Given the description of an element on the screen output the (x, y) to click on. 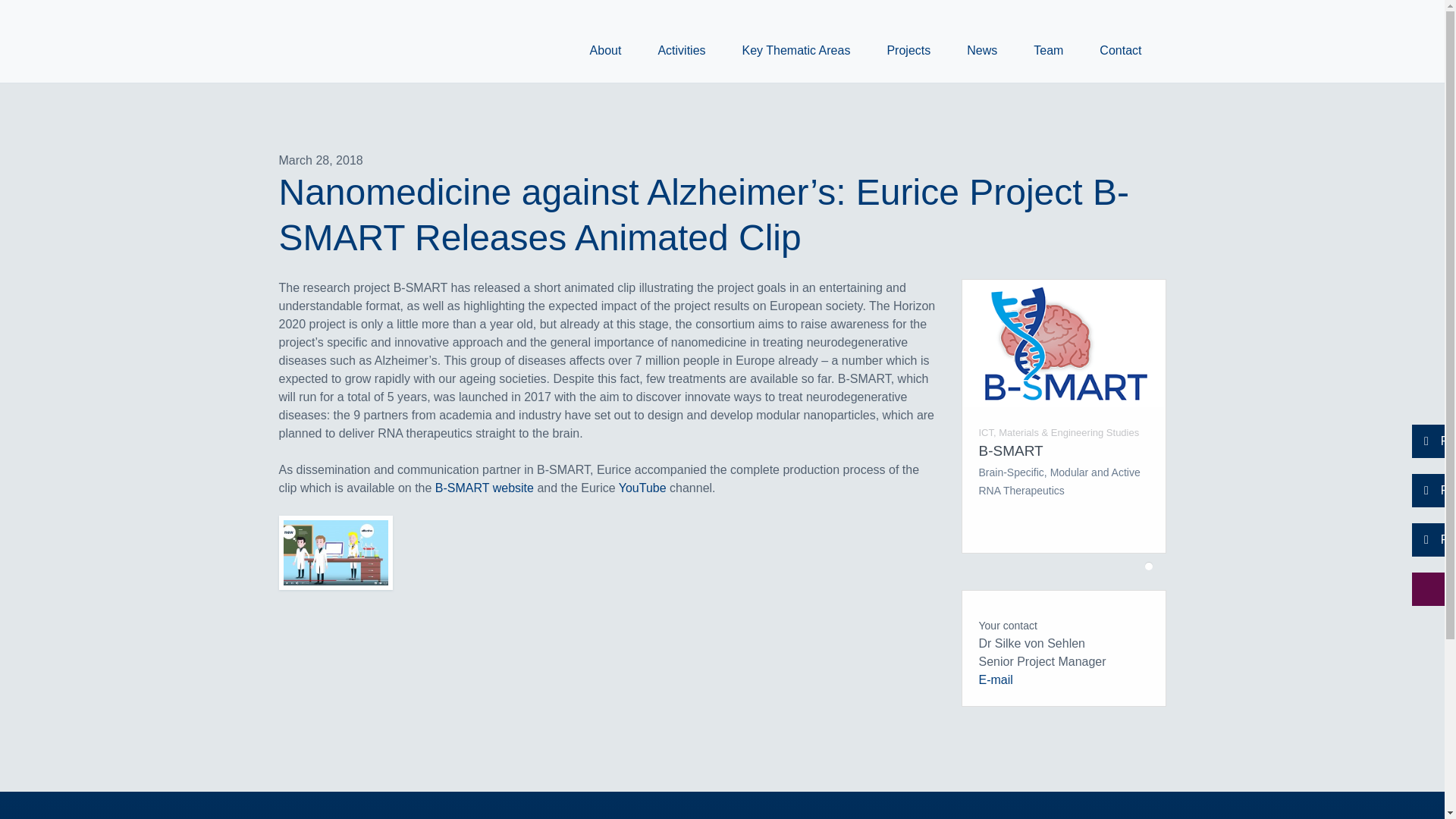
Activities (681, 50)
Projects (908, 50)
B-SMART website (484, 487)
About (605, 50)
News (982, 50)
E-mail (994, 679)
Contact (1120, 50)
YouTube (642, 487)
Team (1048, 50)
Key Thematic Areas (796, 50)
